Given the description of an element on the screen output the (x, y) to click on. 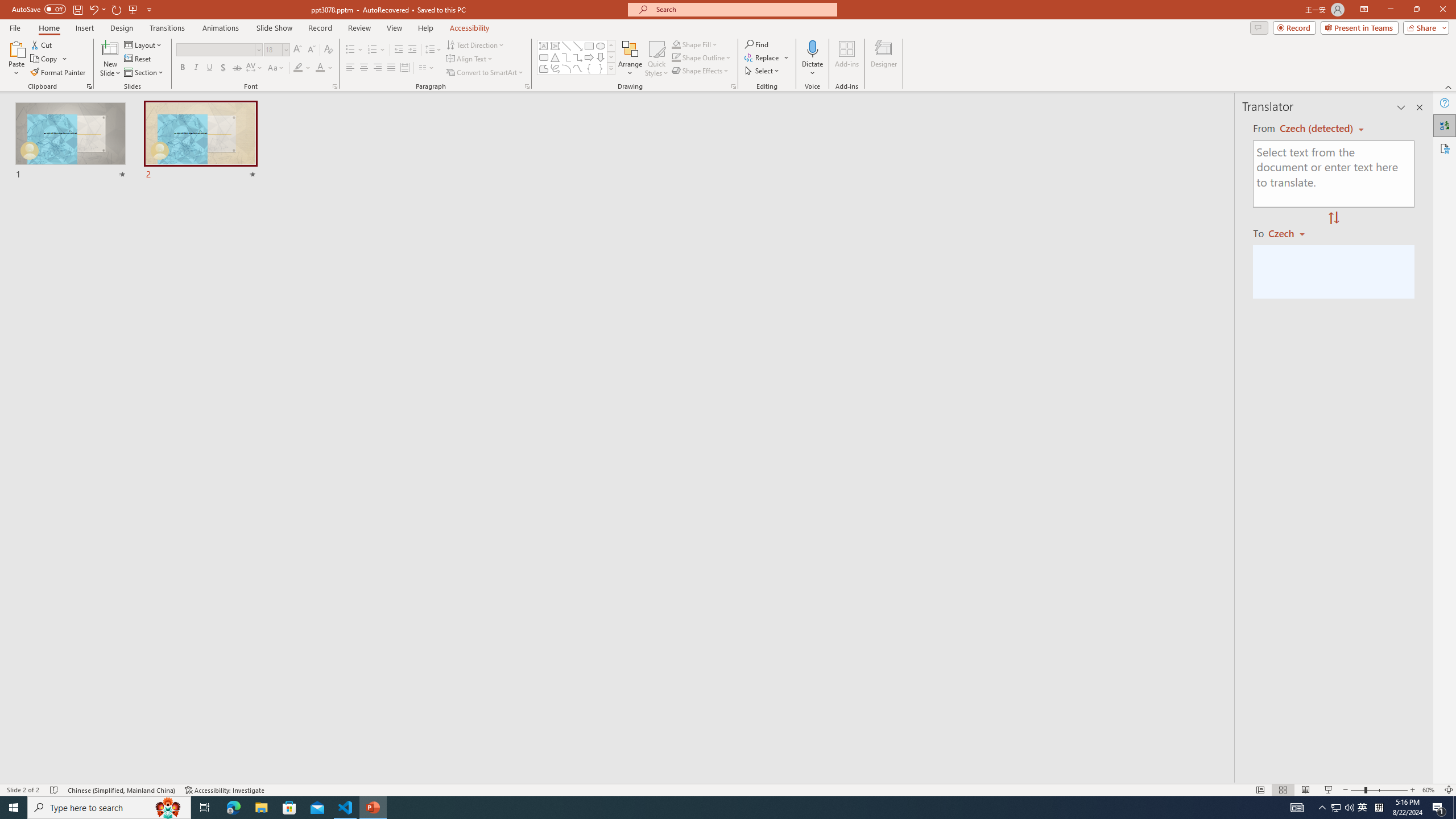
Shape Outline Green, Accent 1 (675, 56)
